Given the description of an element on the screen output the (x, y) to click on. 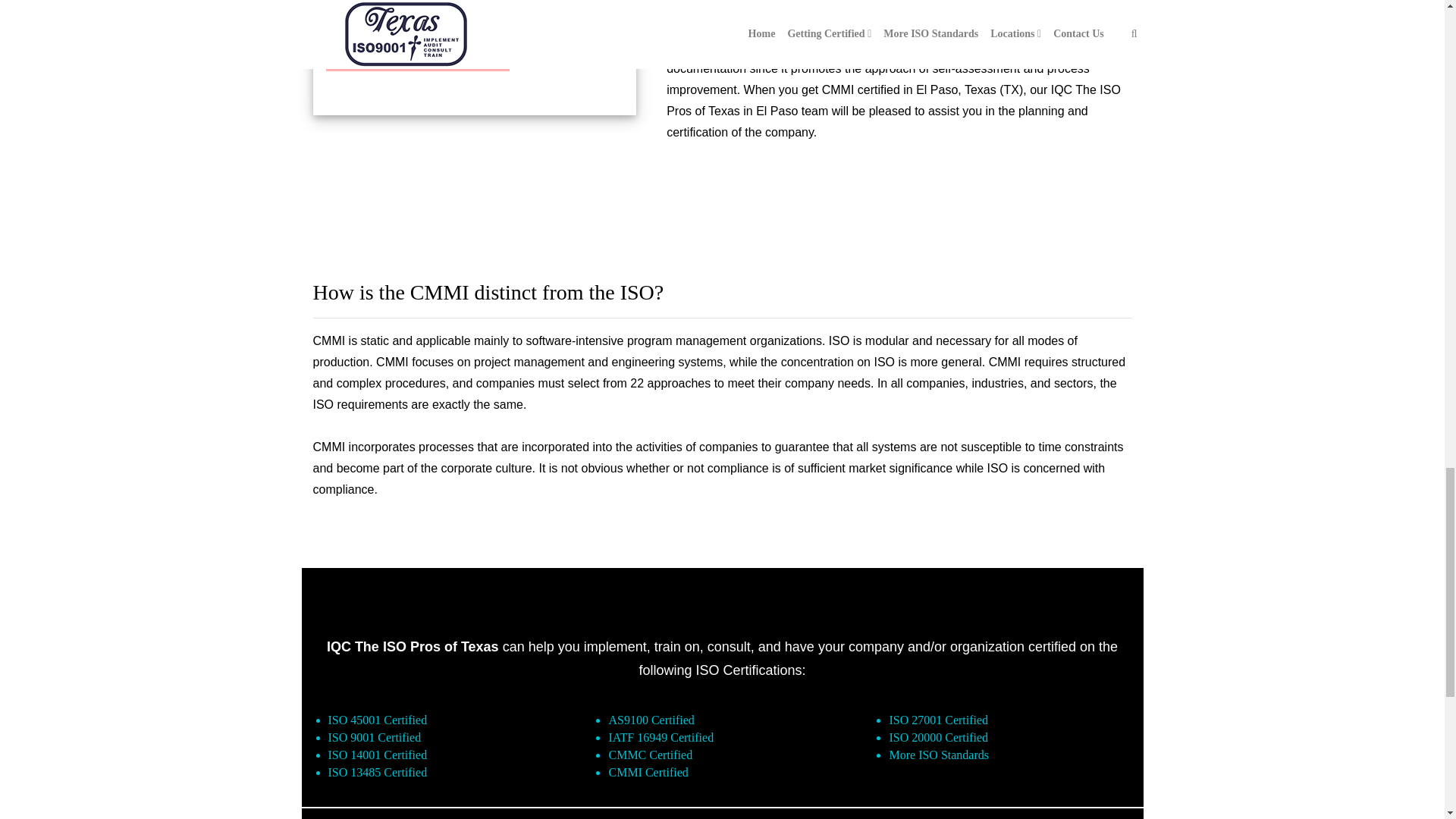
AS9100 Certified (651, 719)
ISO 9001 Certified (373, 737)
ISO 14001 Certified (376, 754)
ISO 45001 Certified (376, 719)
ISO 13485 Certified (376, 771)
Yes, Send Me a FREE Quote! (417, 53)
IATF 16949 Certified (660, 737)
